Given the description of an element on the screen output the (x, y) to click on. 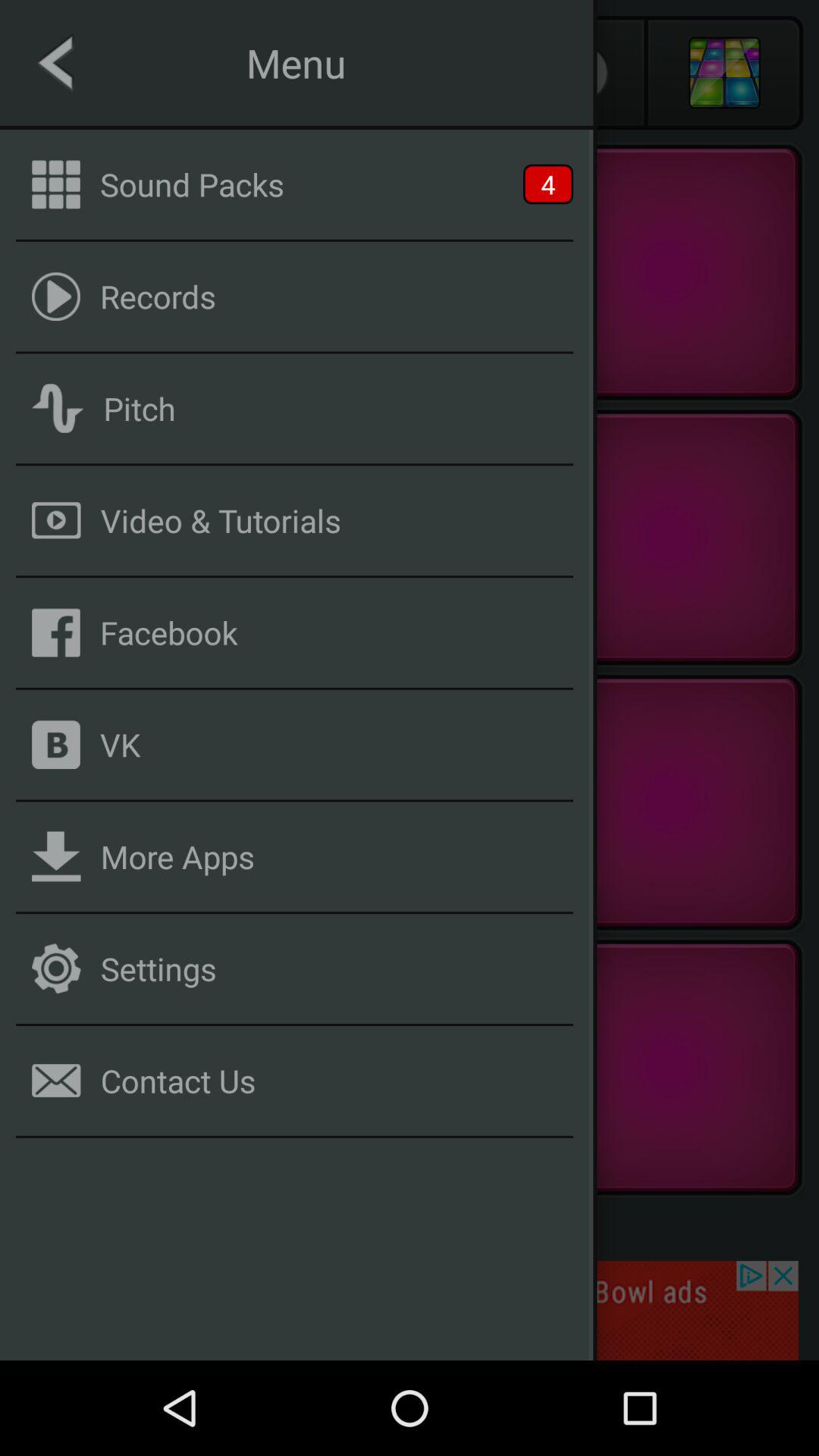
click on the pic on top right (724, 72)
click on the first icon below menu (55, 184)
